Given the description of an element on the screen output the (x, y) to click on. 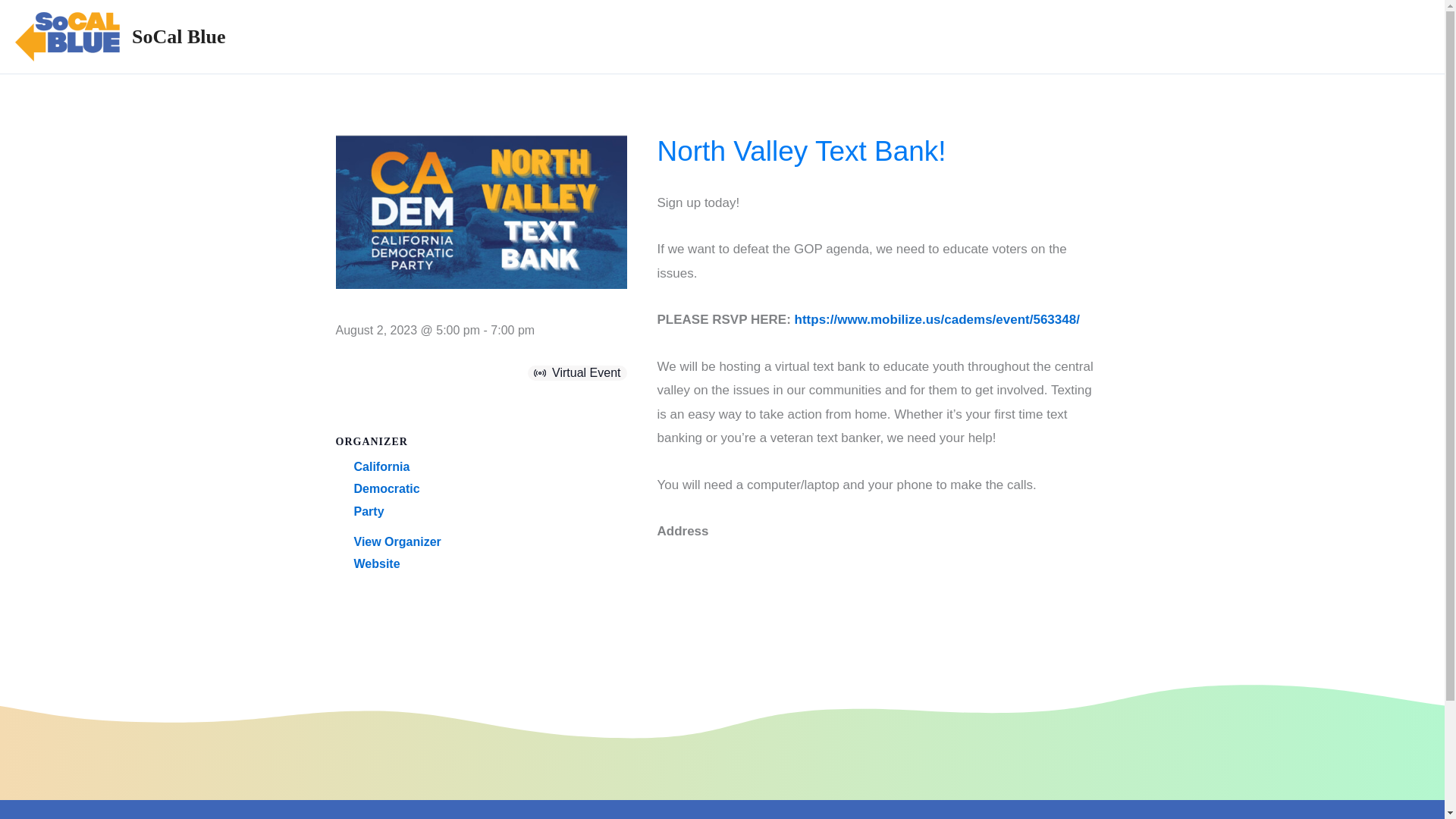
CADEM text bank (480, 212)
SoCal Blue (178, 36)
Virtual Event (541, 372)
Virtual Event (540, 372)
California Democratic Party (386, 488)
